Given the description of an element on the screen output the (x, y) to click on. 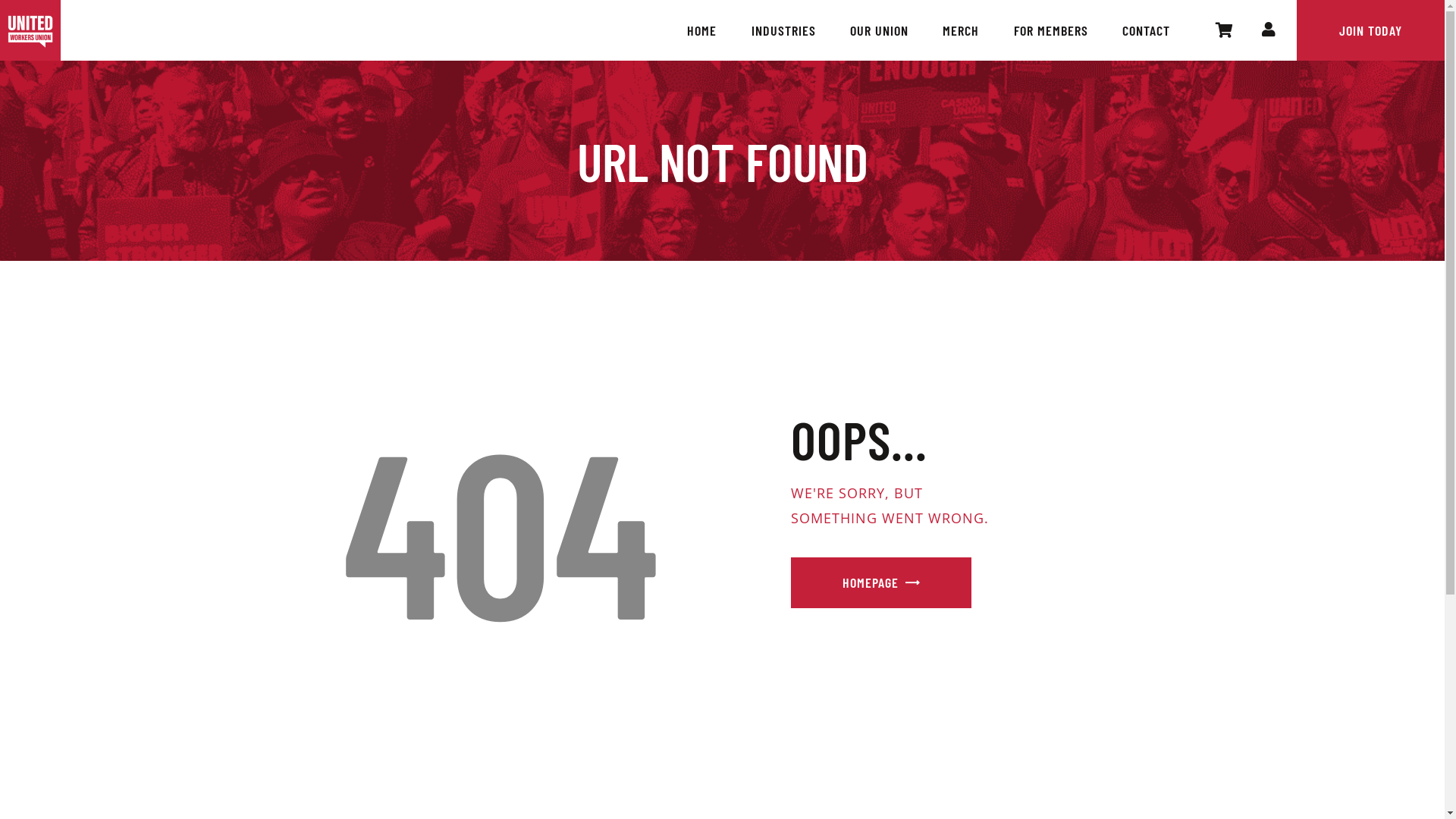
FOR MEMBERS Element type: text (1050, 30)
OUR UNION Element type: text (878, 30)
MERCH Element type: text (960, 30)
HOME Element type: text (702, 30)
CONTACT Element type: text (1145, 30)
HOMEPAGE Element type: text (880, 582)
JOIN TODAY Element type: text (1370, 30)
INDUSTRIES Element type: text (783, 30)
